Given the description of an element on the screen output the (x, y) to click on. 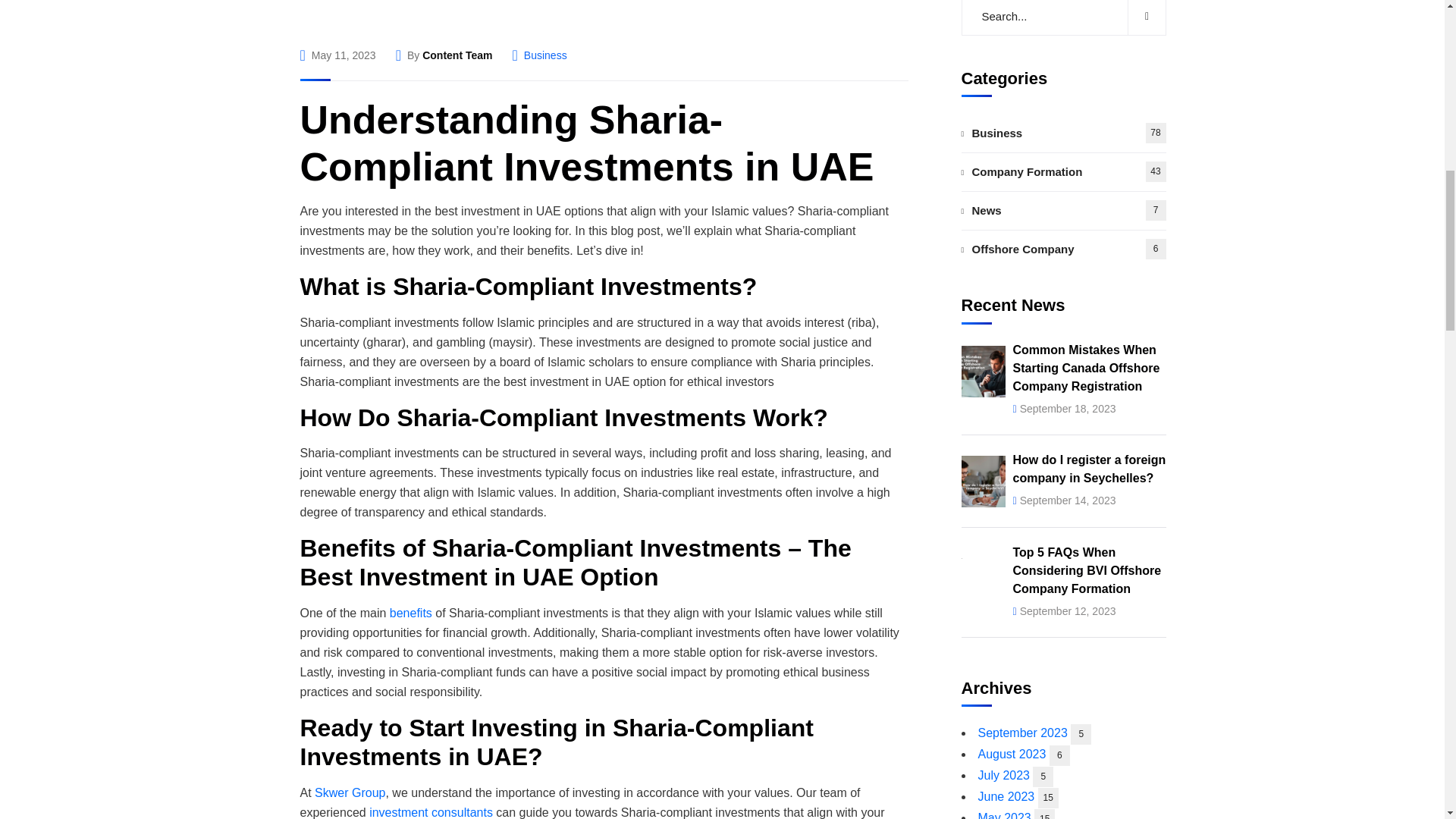
How do I register a foreign company in Seychelles? (1089, 155)
Posts by Content Team (457, 55)
Top 5 FAQs When Considering BVI Offshore Company Formation (1087, 257)
